Given the description of an element on the screen output the (x, y) to click on. 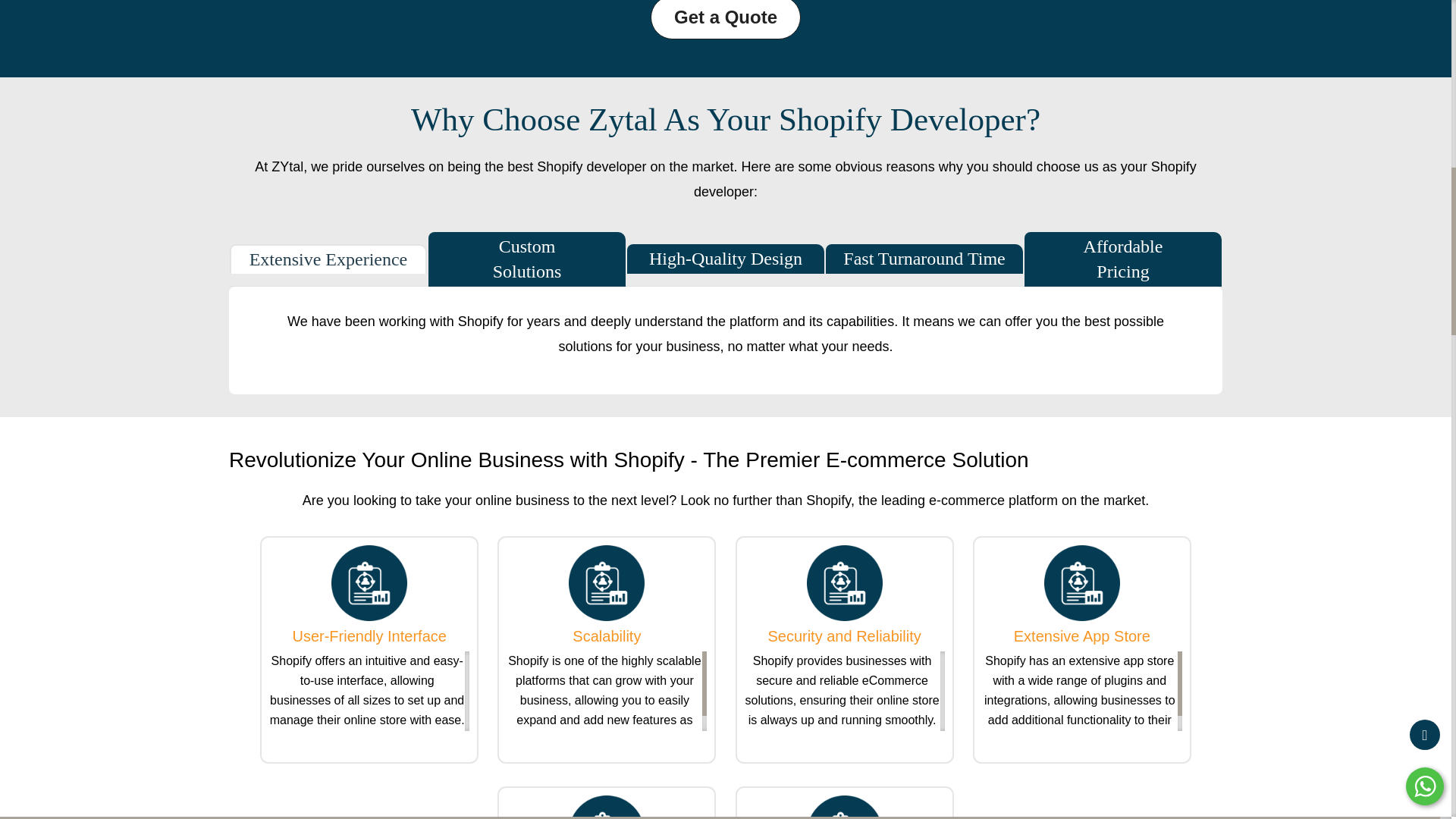
Wordpress (844, 582)
Wordpress (1081, 582)
Wordpress (844, 807)
Wordpress (369, 582)
Wordpress (607, 807)
Wordpress (607, 582)
